Given the description of an element on the screen output the (x, y) to click on. 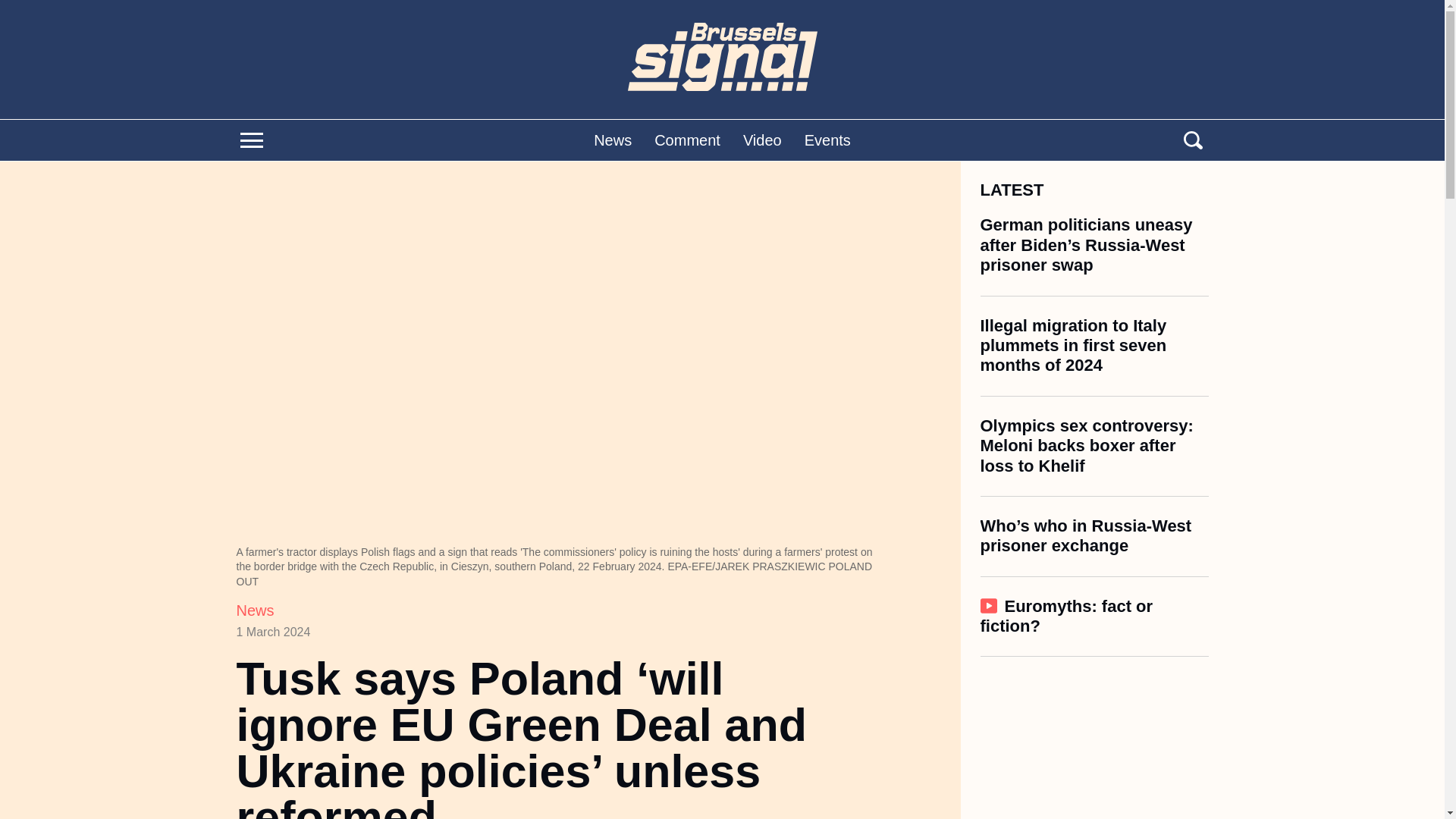
News (255, 610)
Comment (686, 140)
Video (761, 140)
News (612, 140)
Events (827, 140)
